Given the description of an element on the screen output the (x, y) to click on. 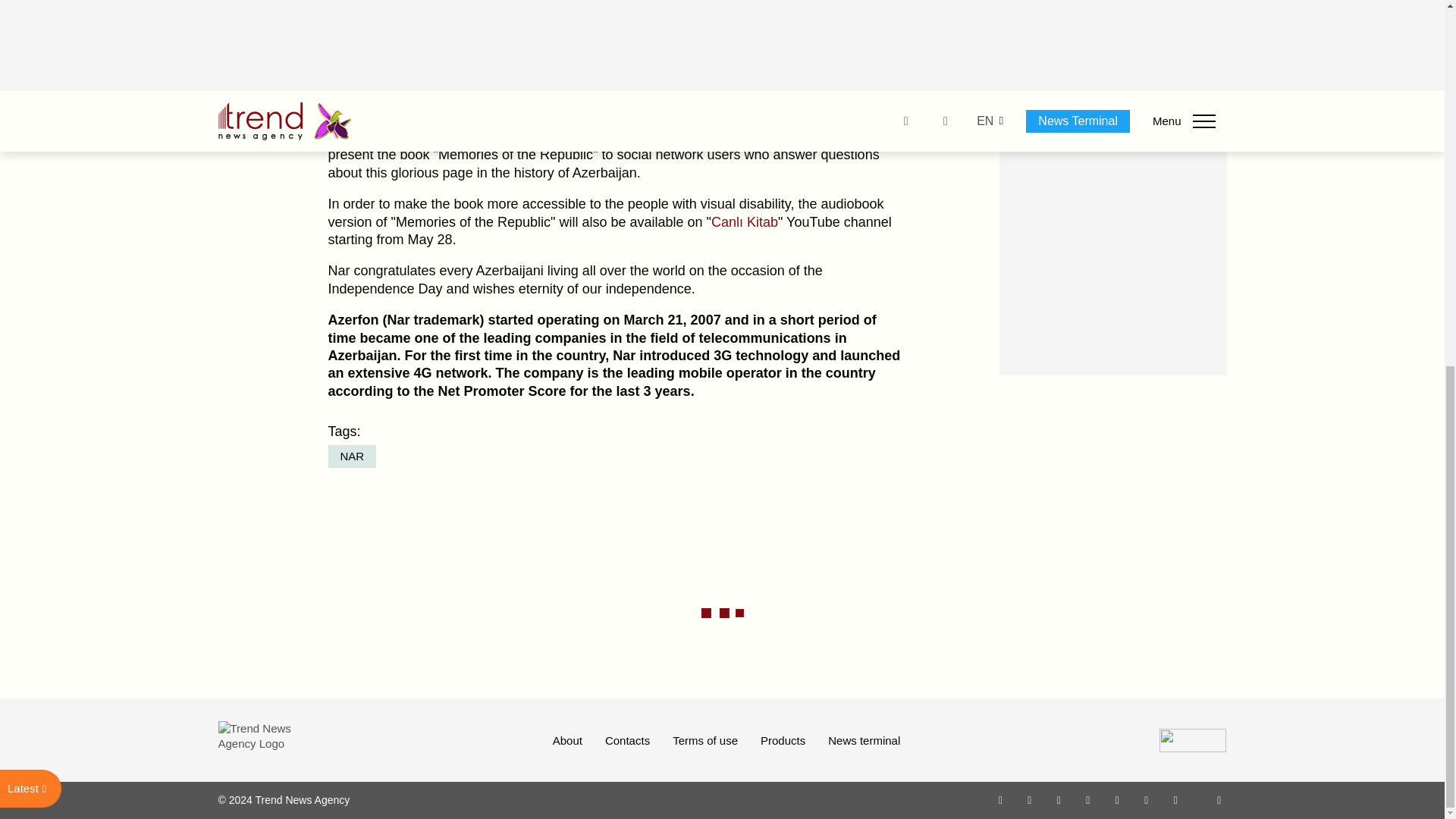
Android App (1176, 799)
Telegram (1117, 799)
Facebook (1029, 799)
RSS Feed (1219, 799)
Twitter (1059, 799)
LinkedIn (1146, 799)
Whatsapp (1000, 799)
Youtube (1088, 799)
